Given the description of an element on the screen output the (x, y) to click on. 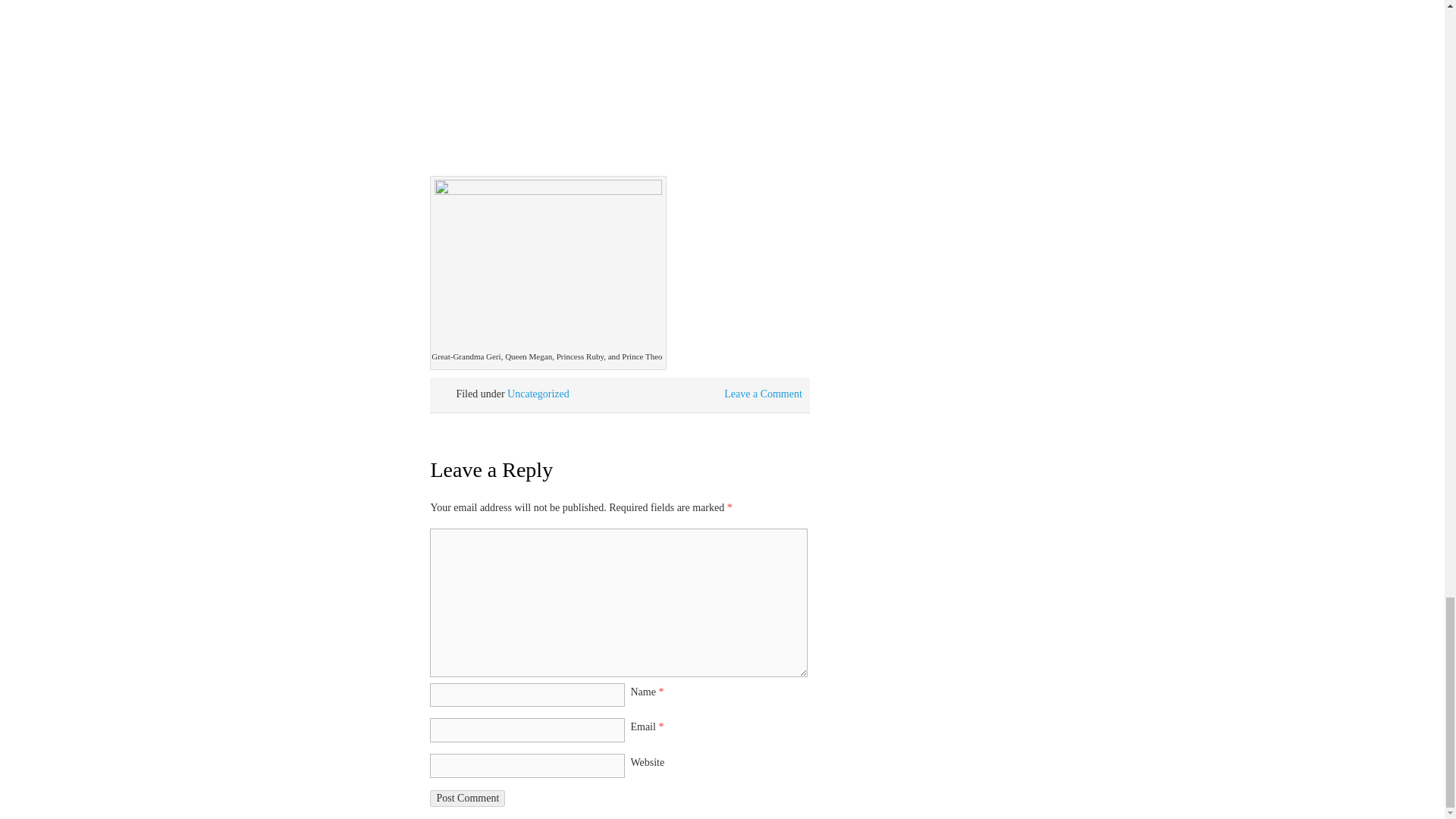
Leave a Comment (762, 393)
Uncategorized (537, 393)
Post Comment (467, 798)
Ruby's Princess Party 2016 (619, 79)
Post Comment (467, 798)
